Given the description of an element on the screen output the (x, y) to click on. 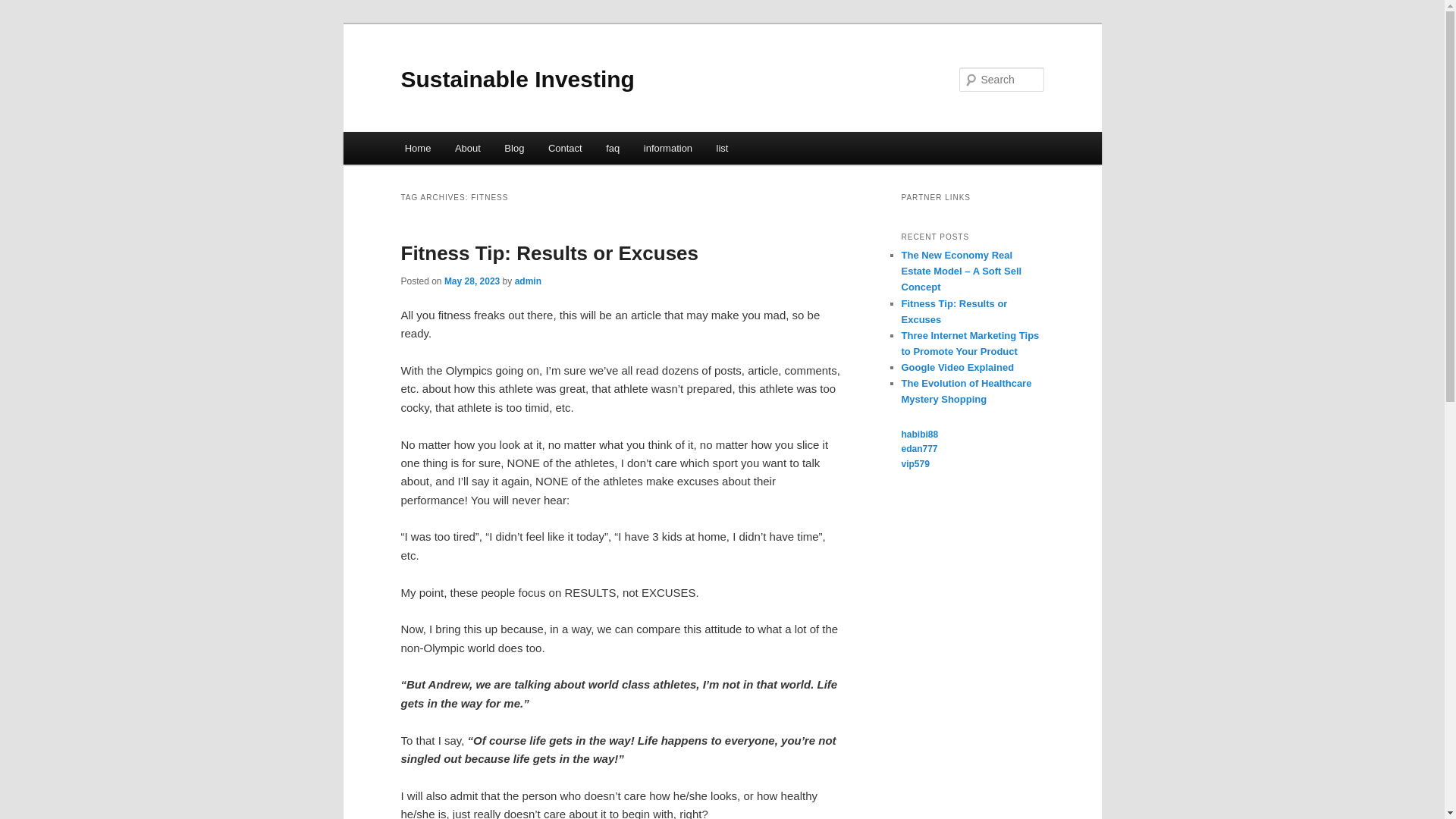
The Evolution of Healthcare Mystery Shopping (965, 390)
Contact (564, 147)
May 28, 2023 (471, 281)
Three Internet Marketing Tips to Promote Your Product (970, 343)
edan777 (919, 448)
list (721, 147)
Google Video Explained (957, 367)
Search (24, 8)
Contact (564, 147)
